Given the description of an element on the screen output the (x, y) to click on. 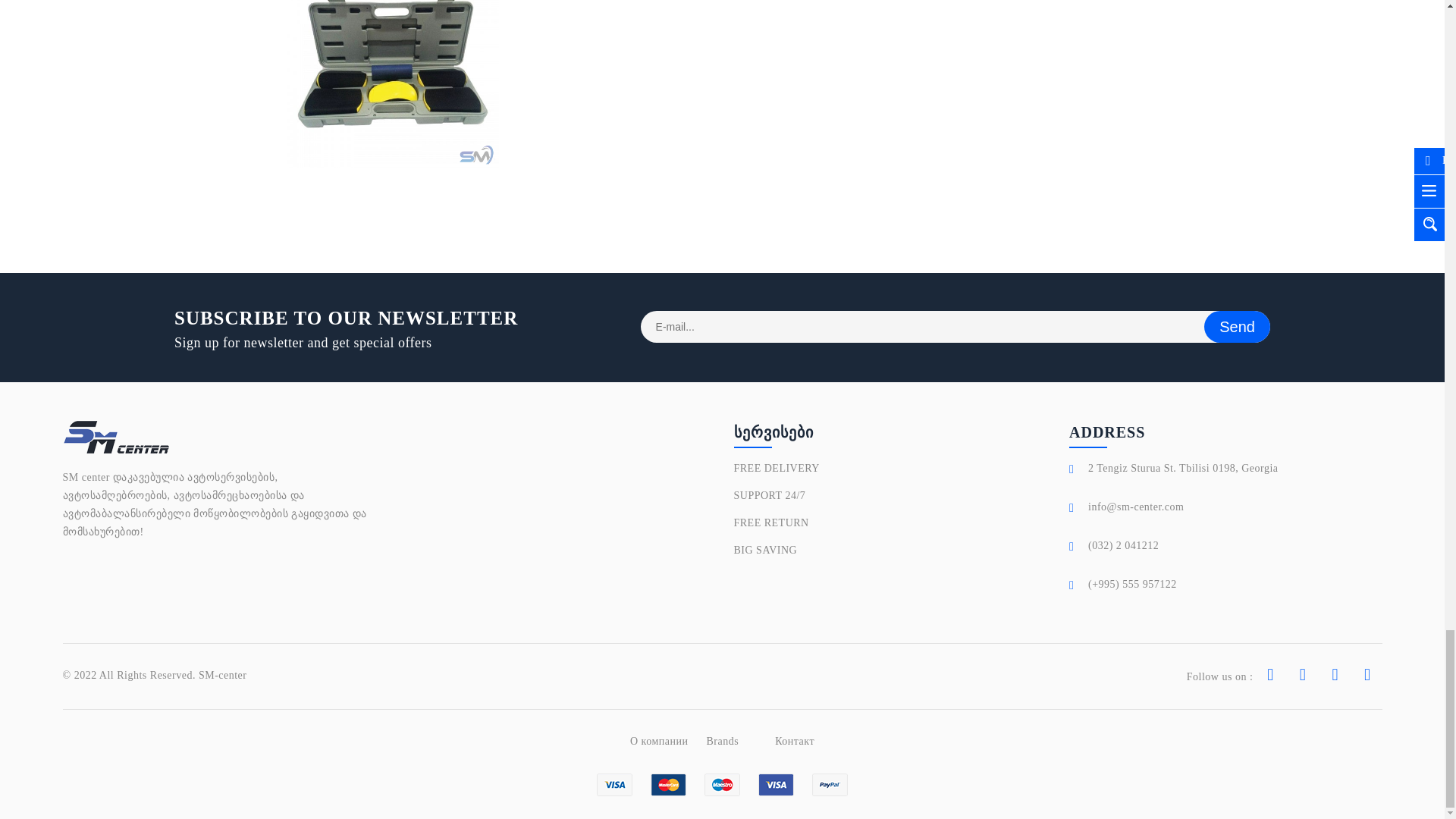
Youtube (1366, 676)
Subscribe (1236, 327)
Facebook (1270, 676)
Youtube (1302, 676)
Youtube (1334, 676)
